Given the description of an element on the screen output the (x, y) to click on. 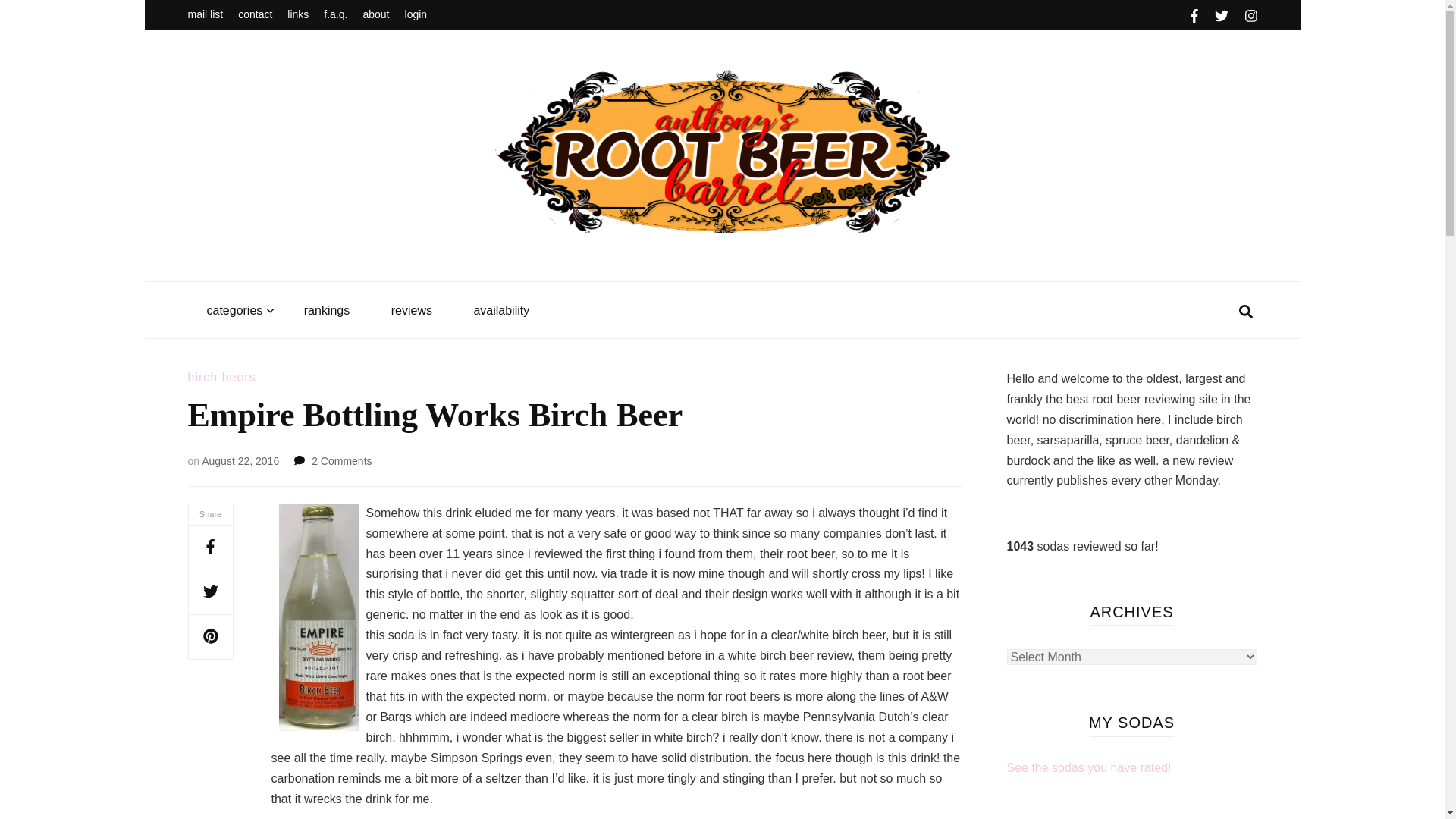
contact (255, 15)
reviews (411, 311)
categories (234, 311)
mail list (205, 15)
rankings (326, 311)
availability (501, 311)
